Given the description of an element on the screen output the (x, y) to click on. 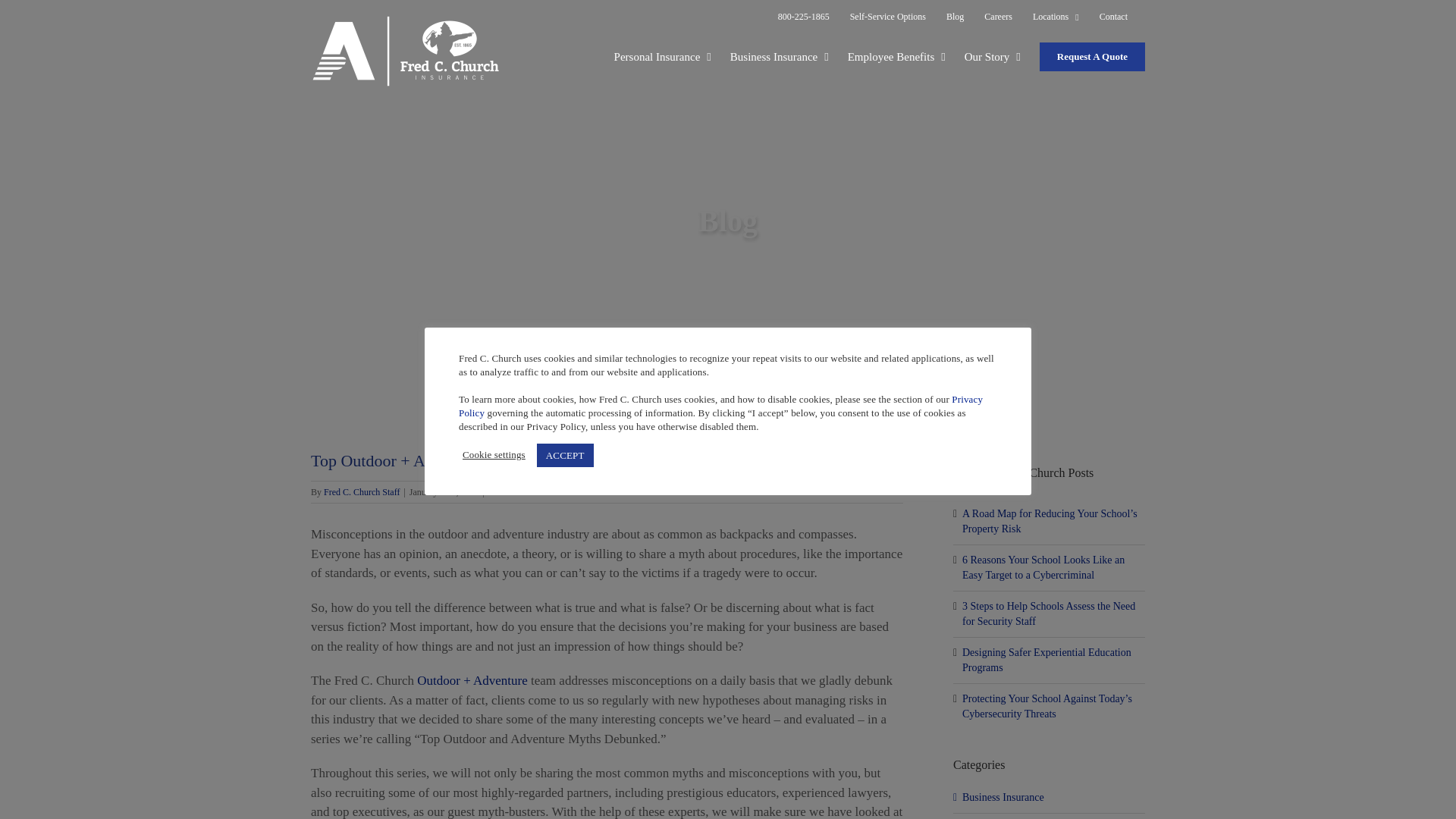
Posts by Fred C. Church Staff (360, 491)
Contact (1113, 16)
Blog (955, 16)
Careers (998, 16)
Locations (1056, 16)
800-225-1865 (804, 16)
Personal Insurance (662, 56)
Self-Service Options (888, 16)
